Given the description of an element on the screen output the (x, y) to click on. 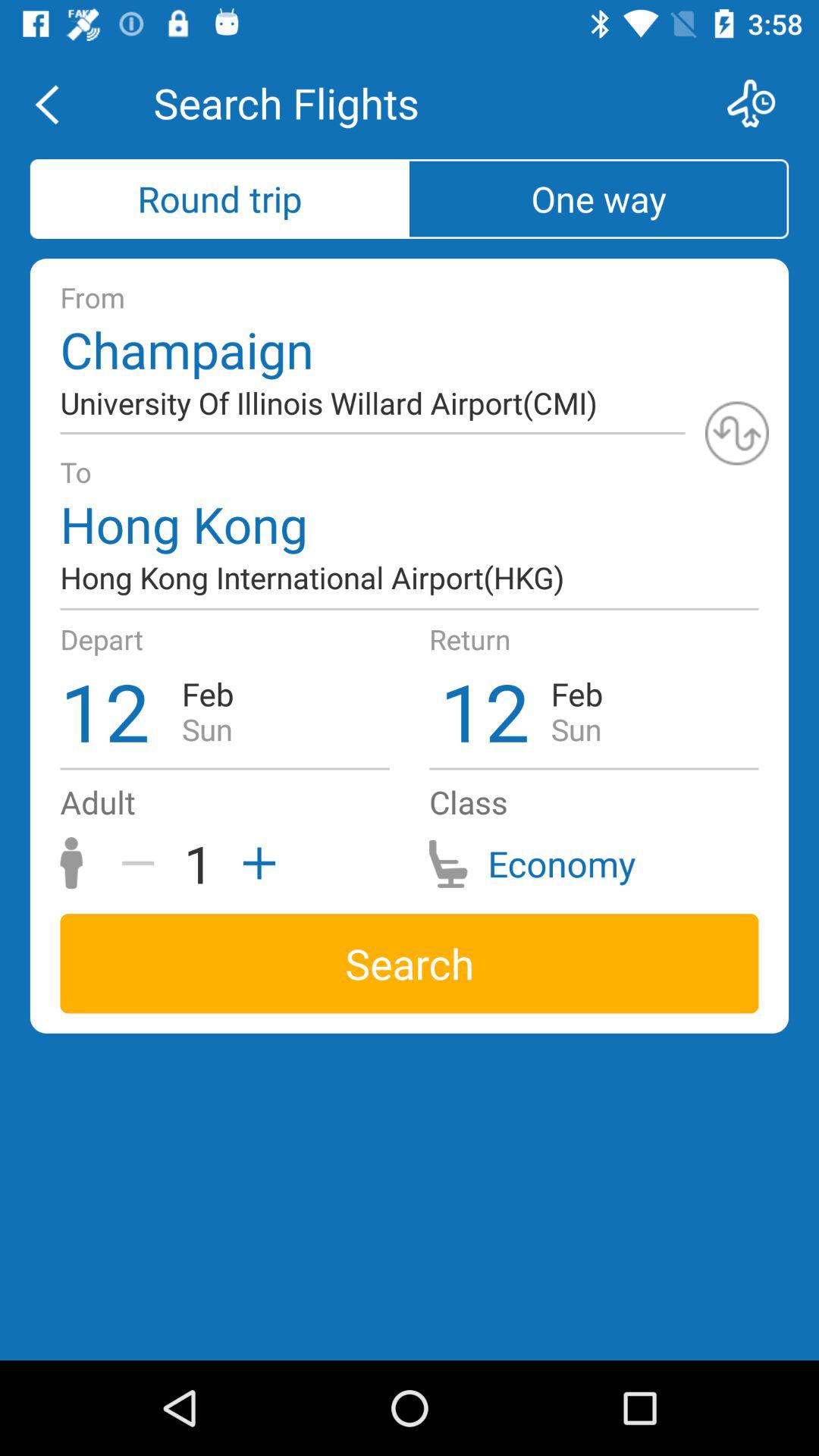
change flight schedule (761, 102)
